Given the description of an element on the screen output the (x, y) to click on. 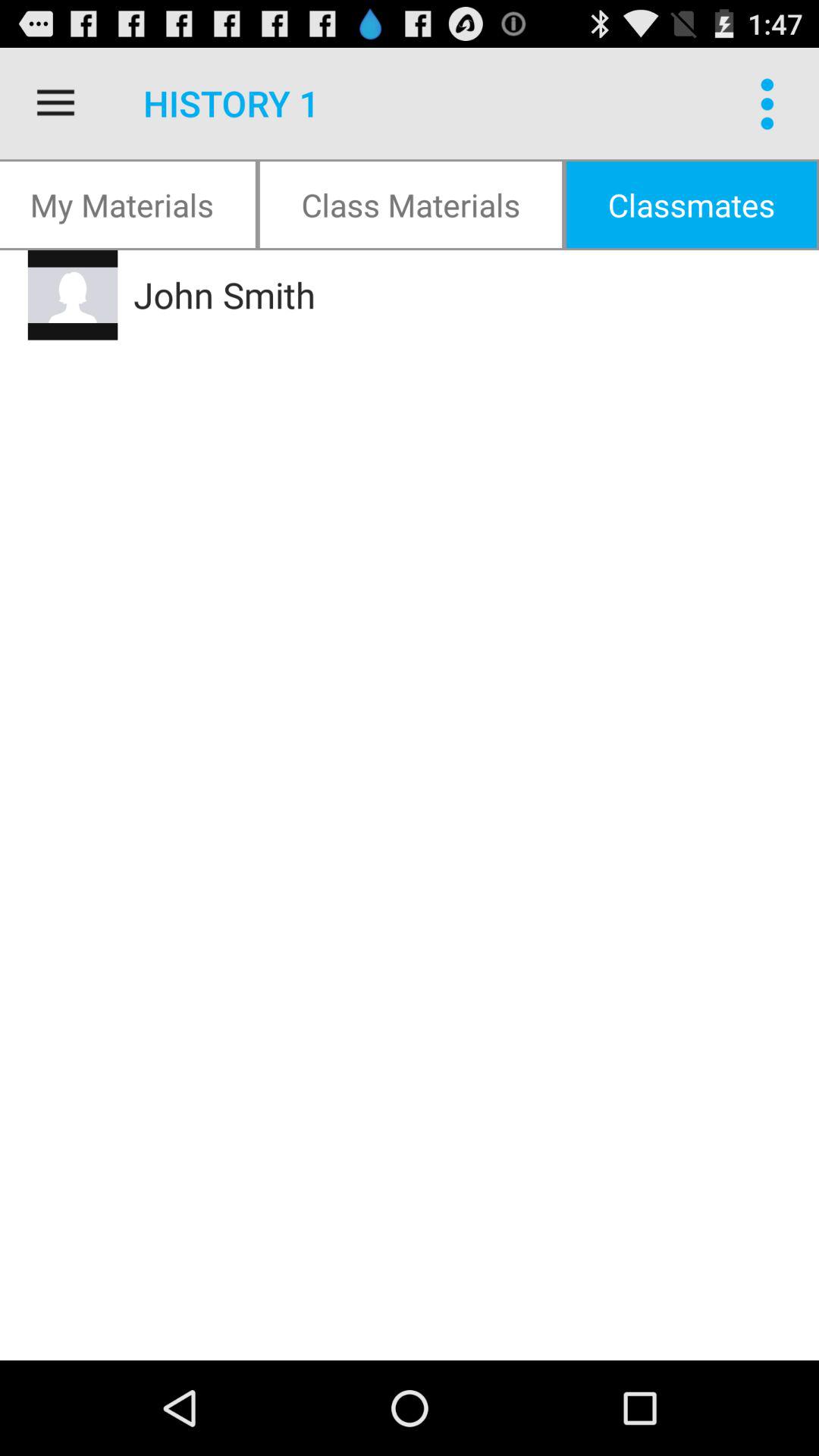
select item next to class materials item (691, 204)
